Given the description of an element on the screen output the (x, y) to click on. 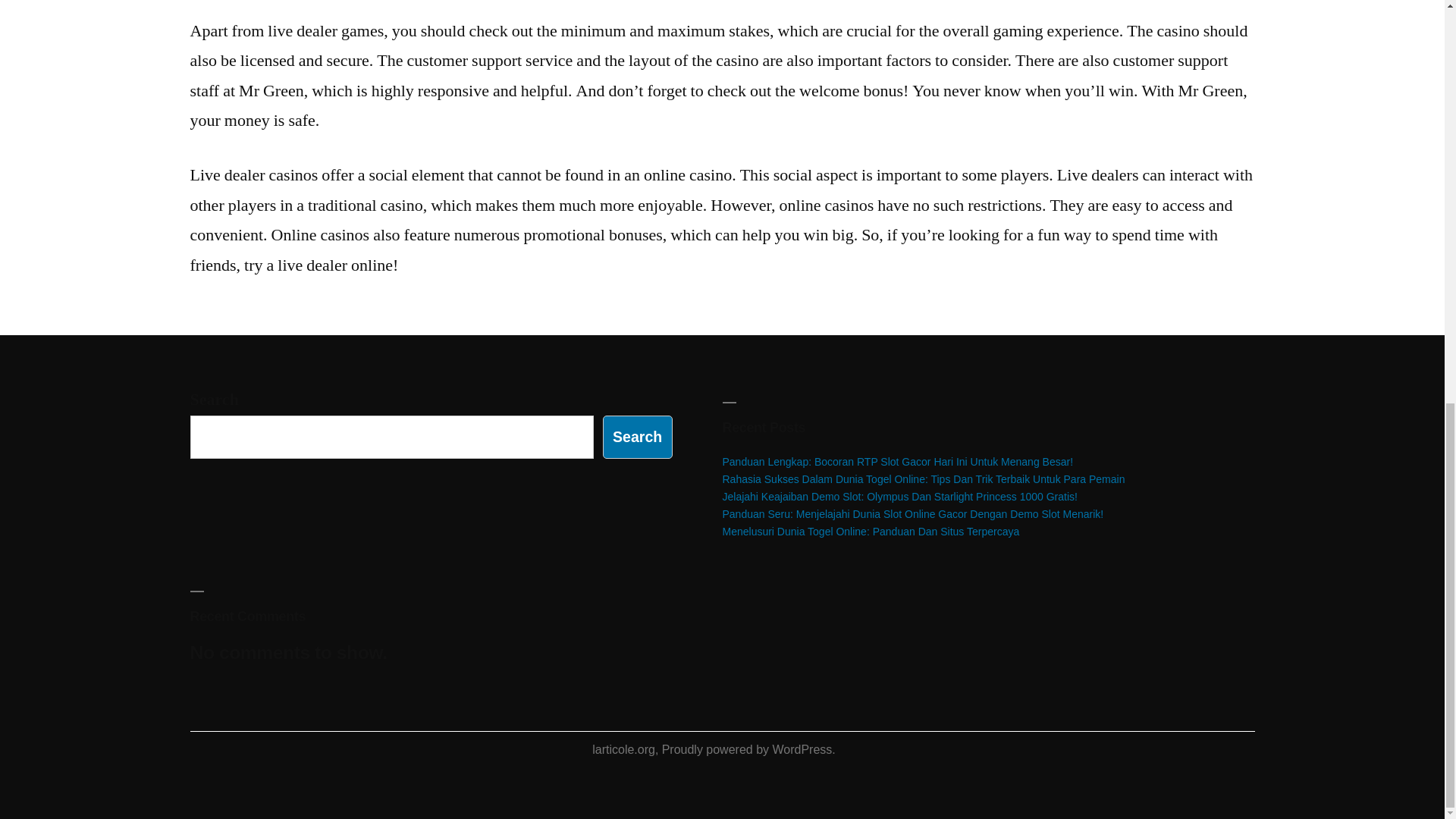
Search (637, 436)
Menelusuri Dunia Togel Online: Panduan Dan Situs Terpercaya (870, 531)
larticole.org (623, 748)
Proudly powered by WordPress. (748, 748)
